Given the description of an element on the screen output the (x, y) to click on. 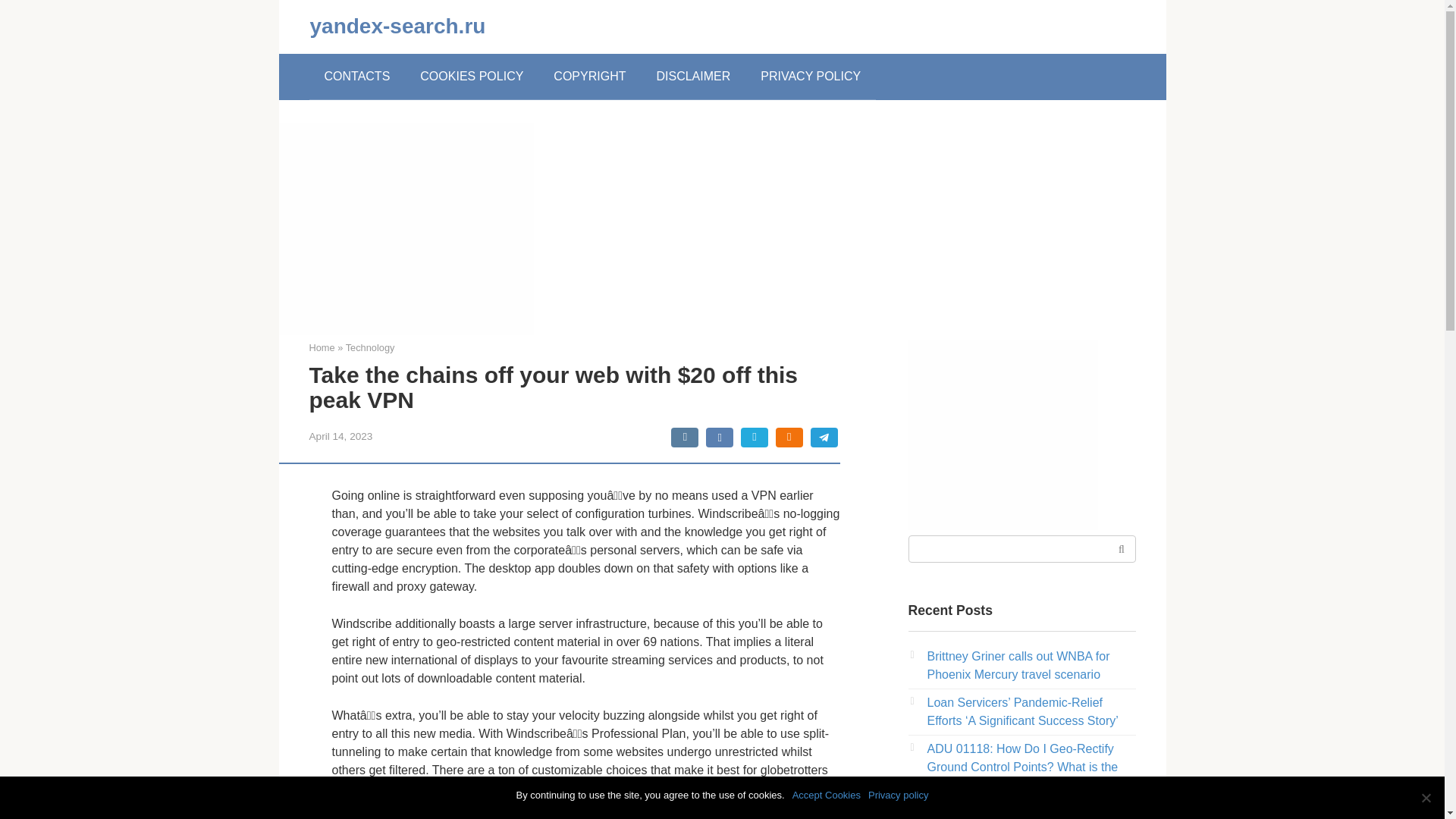
PRIVACY POLICY (810, 76)
Home (321, 347)
COOKIES POLICY (471, 76)
Advertisement (1002, 434)
Advertisement (406, 228)
Technology (370, 347)
No (1425, 797)
DISCLAIMER (692, 76)
CONTACTS (357, 76)
COPYRIGHT (589, 76)
yandex-search.ru (396, 25)
